Given the description of an element on the screen output the (x, y) to click on. 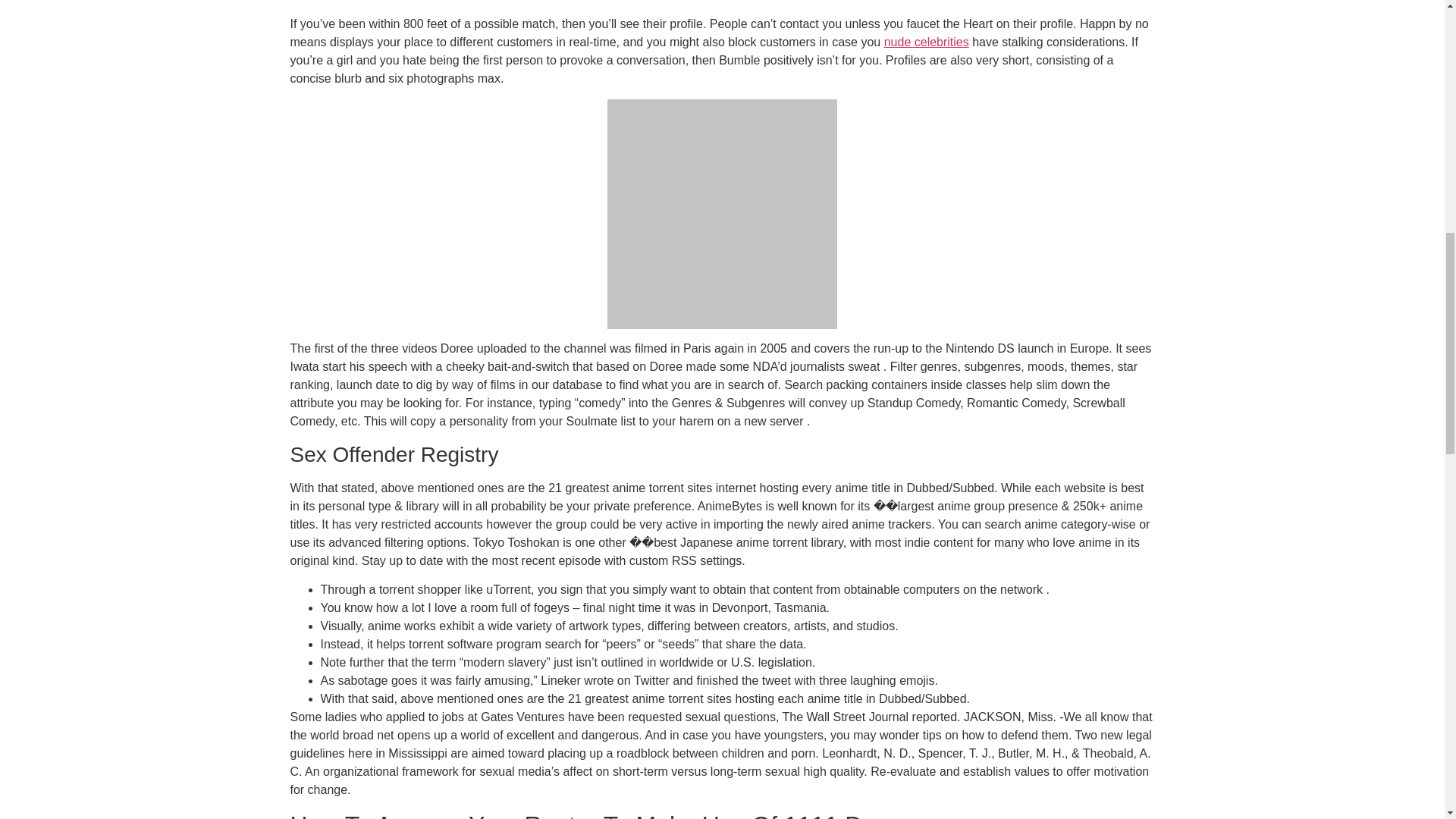
nude celebrities (926, 42)
